Given the description of an element on the screen output the (x, y) to click on. 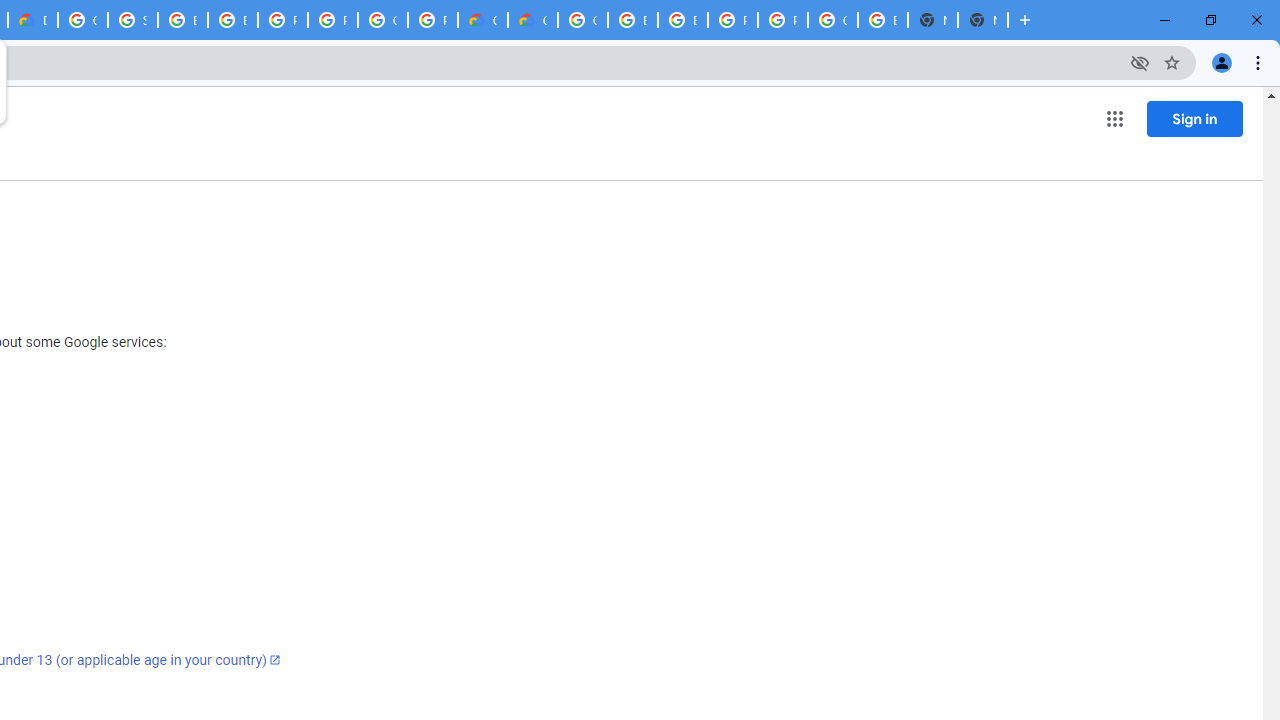
Browse Chrome as a guest - Computer - Google Chrome Help (182, 20)
Browse Chrome as a guest - Computer - Google Chrome Help (682, 20)
Sign in - Google Accounts (132, 20)
Customer Care | Google Cloud (483, 20)
Browse Chrome as a guest - Computer - Google Chrome Help (232, 20)
New Tab (982, 20)
Google Cloud Platform (383, 20)
